Given the description of an element on the screen output the (x, y) to click on. 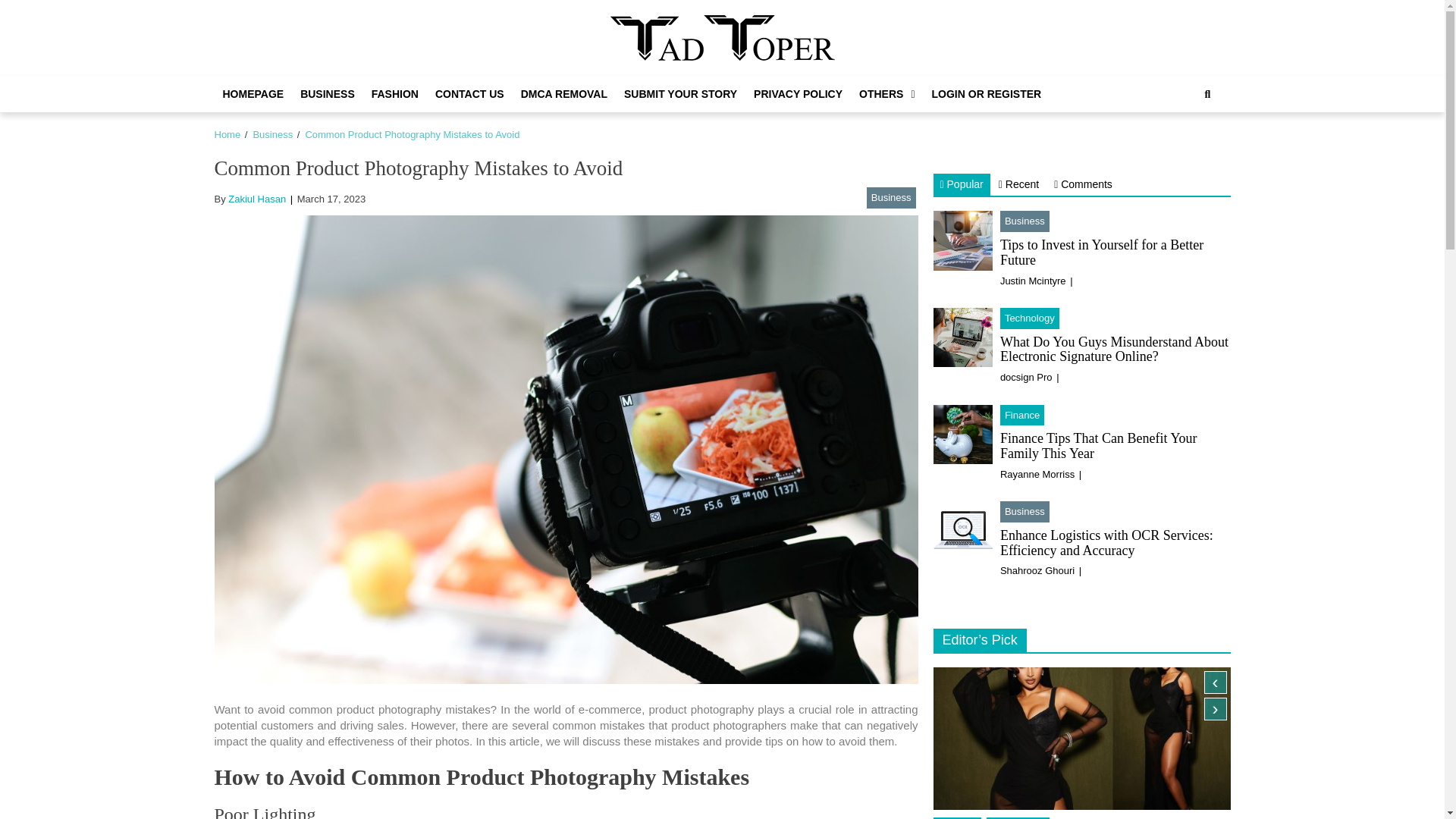
Zakiul Hasan (256, 198)
LOGIN OR REGISTER (986, 94)
Home (227, 134)
SUBMIT YOUR STORY (680, 94)
PRIVACY POLICY (797, 94)
Search (1191, 145)
HOMEPAGE (253, 94)
Tad Toper (673, 77)
OTHERS (886, 94)
DMCA REMOVAL (563, 94)
CONTACT US (469, 94)
Business (890, 197)
FASHION (394, 94)
Search (1207, 94)
Common Product Photography Mistakes to Avoid (411, 134)
